Given the description of an element on the screen output the (x, y) to click on. 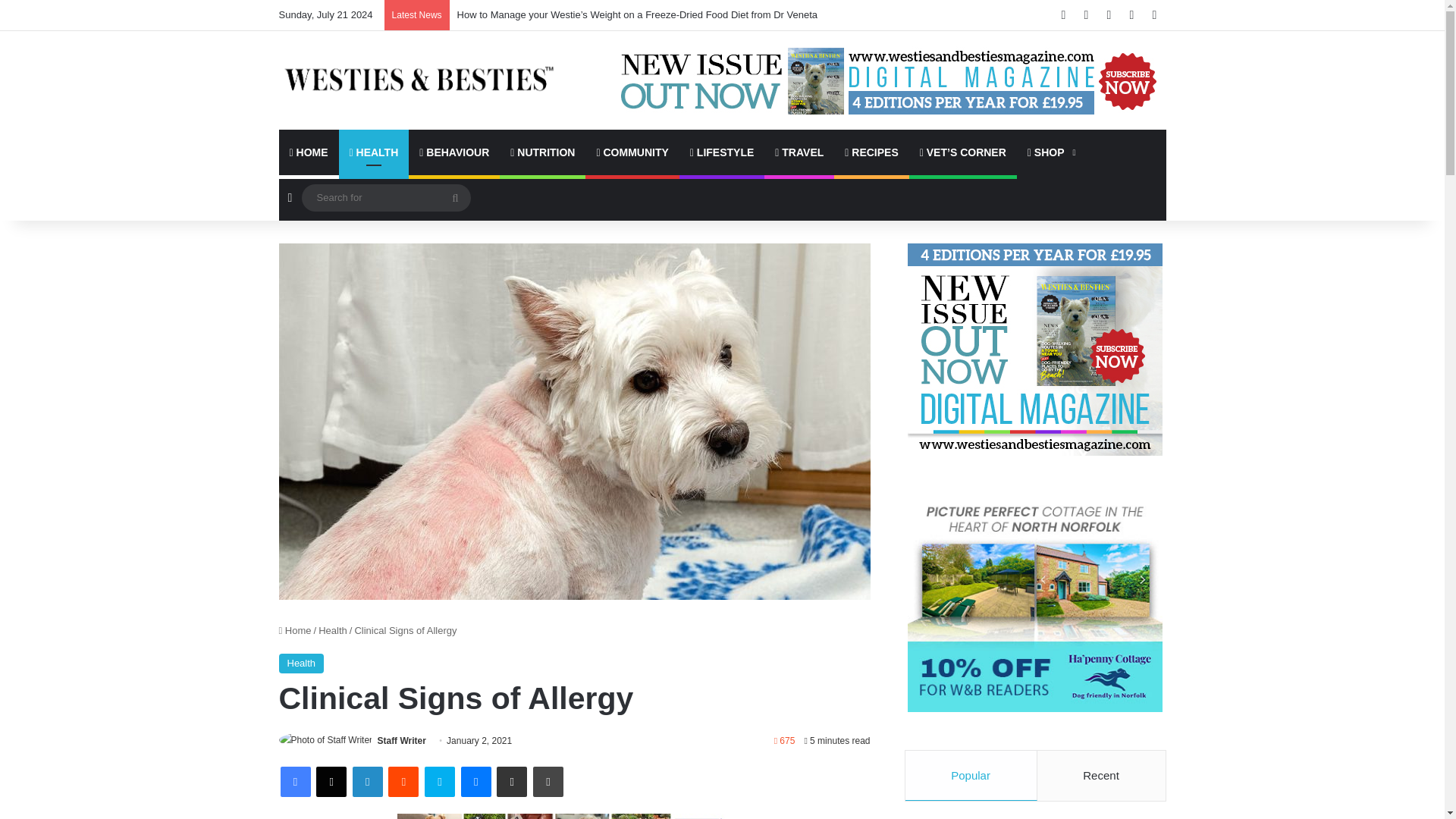
Print (547, 781)
Skype (439, 781)
Share via Email (511, 781)
Search for (454, 197)
Share via Email (511, 781)
Buy now! (1049, 152)
Messenger (476, 781)
BEHAVIOUR (454, 152)
COMMUNITY (631, 152)
Reddit (403, 781)
Health (301, 663)
Facebook (296, 781)
Messenger (476, 781)
Reddit (403, 781)
TRAVEL (799, 152)
